Given the description of an element on the screen output the (x, y) to click on. 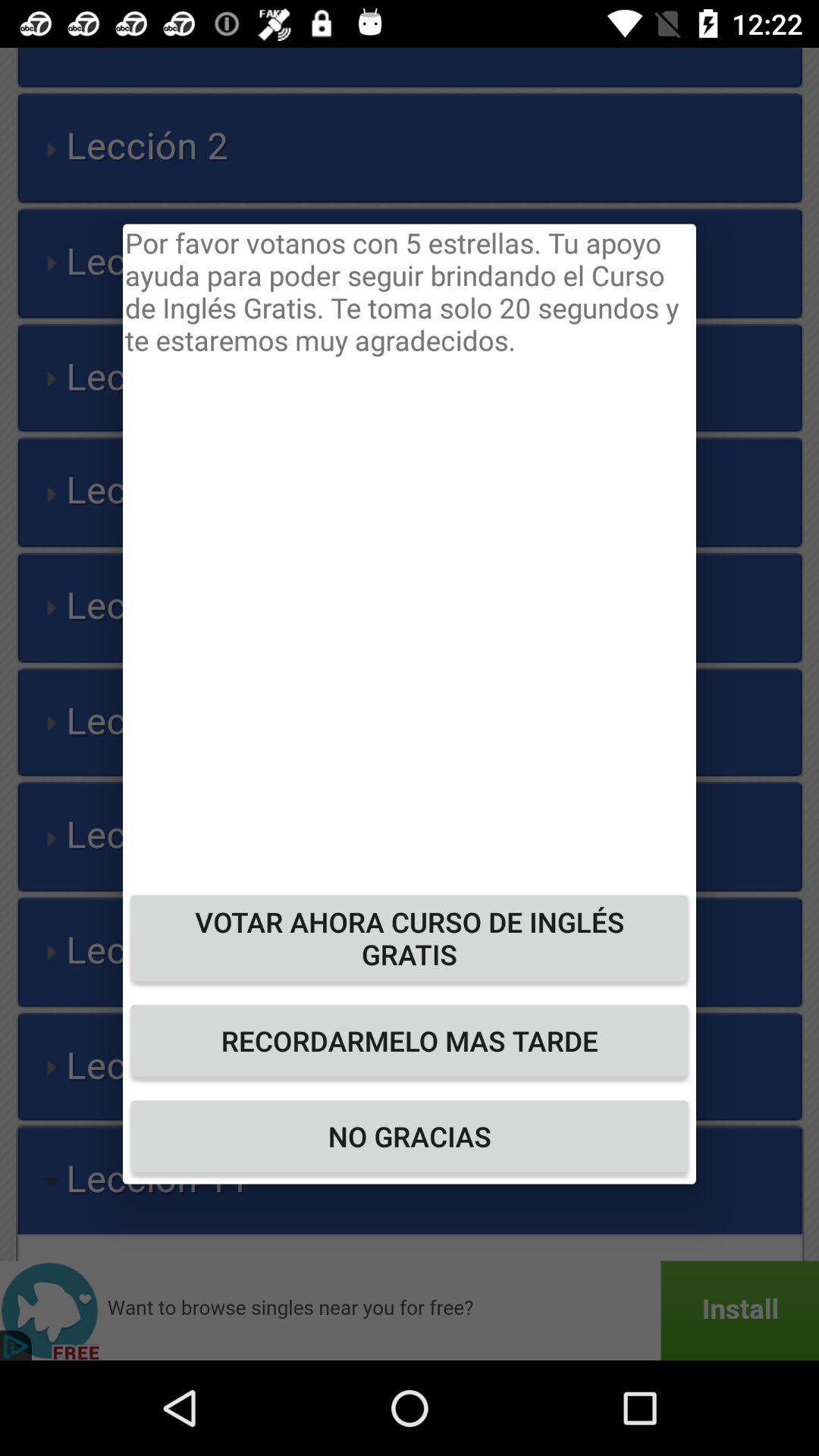
choose app below the por favor votanos app (409, 938)
